Given the description of an element on the screen output the (x, y) to click on. 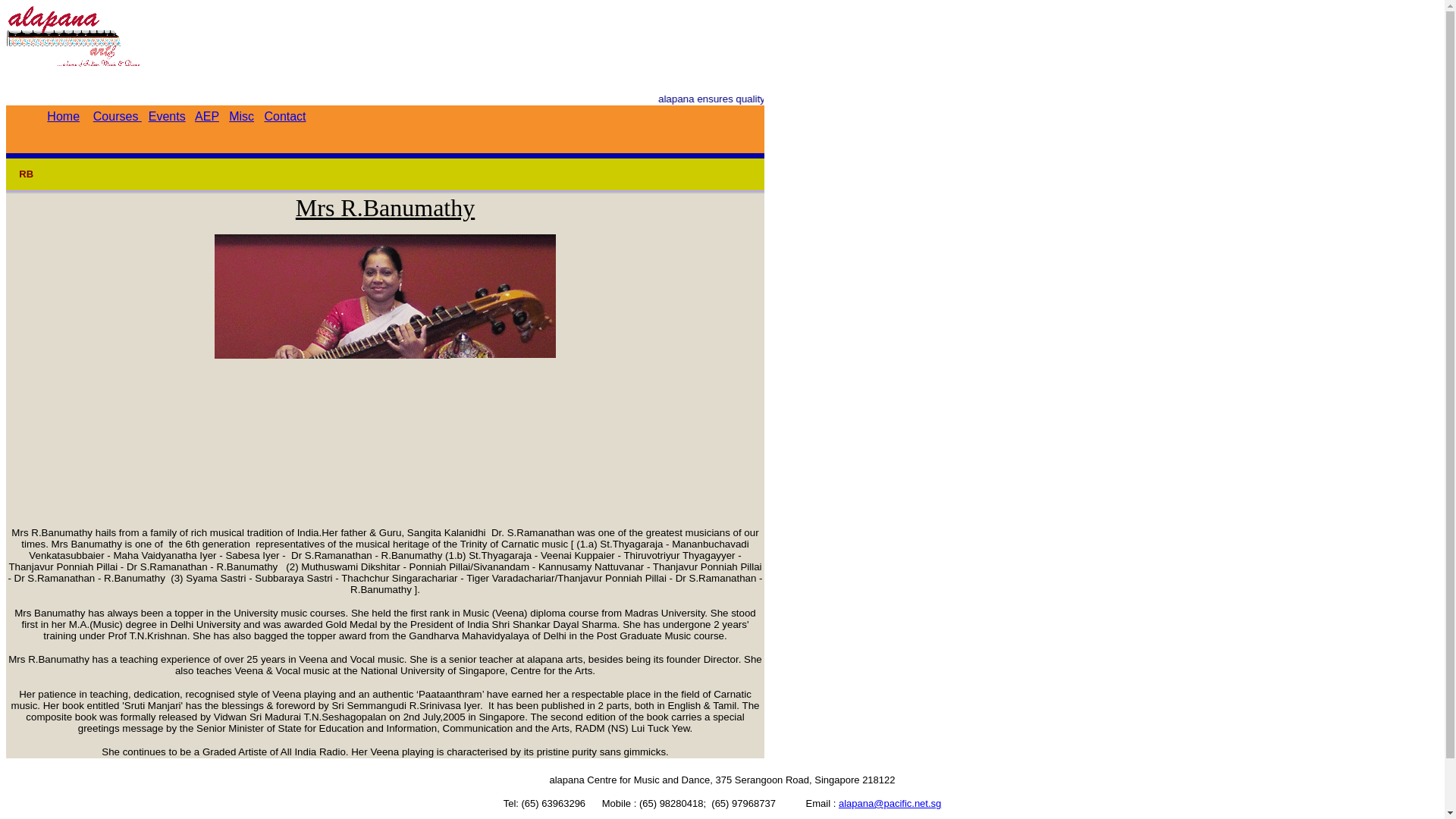
Contact (284, 115)
Courses (117, 115)
Events (167, 115)
Home (63, 115)
Misc (240, 115)
AEP (207, 115)
